Given the description of an element on the screen output the (x, y) to click on. 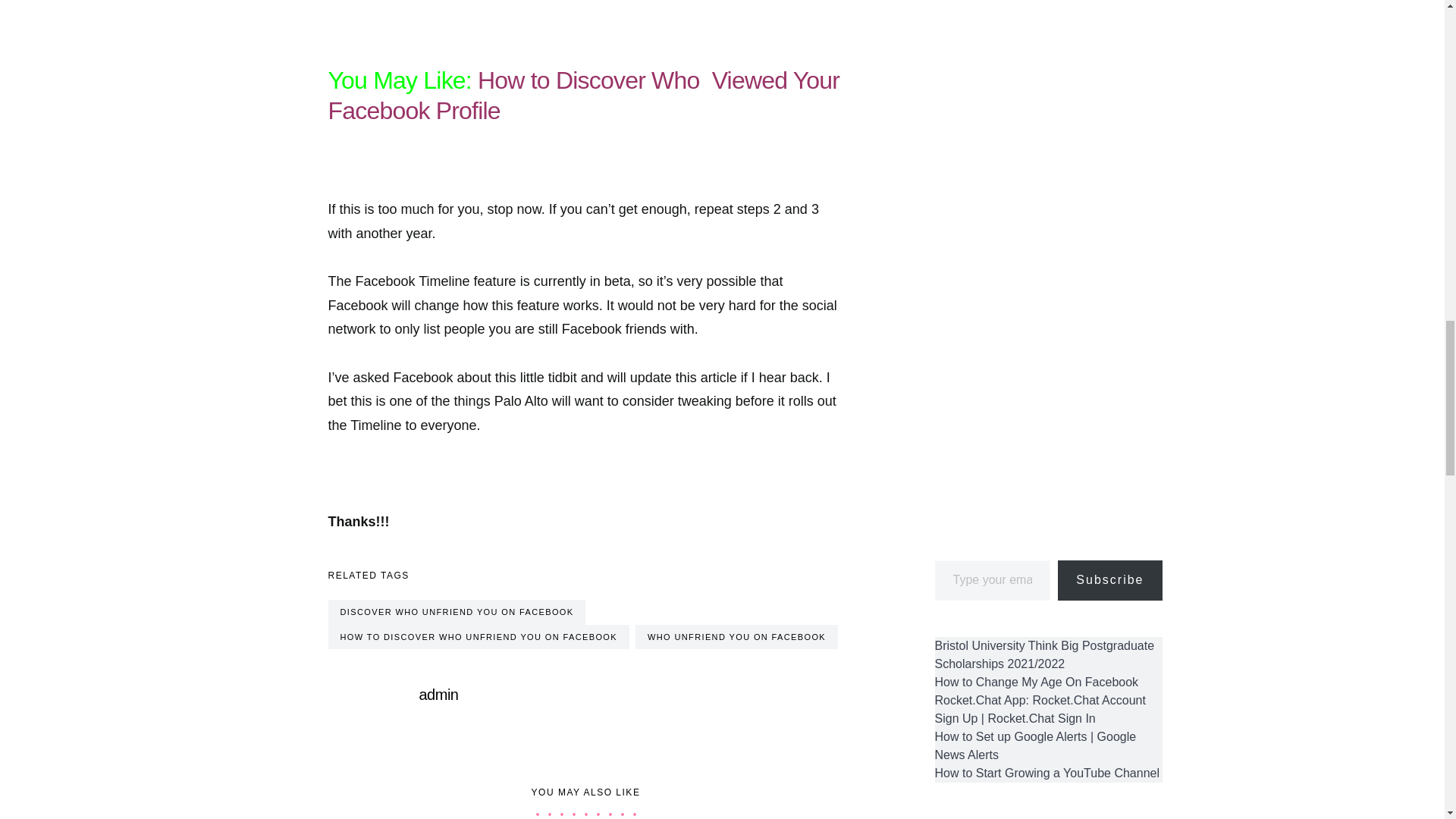
How to Discover Who  Viewed Your Facebook Profile (583, 95)
HOW TO DISCOVER WHO UNFRIEND YOU ON FACEBOOK (477, 637)
WHO UNFRIEND YOU ON FACEBOOK (736, 637)
DISCOVER WHO UNFRIEND YOU ON FACEBOOK (456, 611)
admin (438, 694)
